Given the description of an element on the screen output the (x, y) to click on. 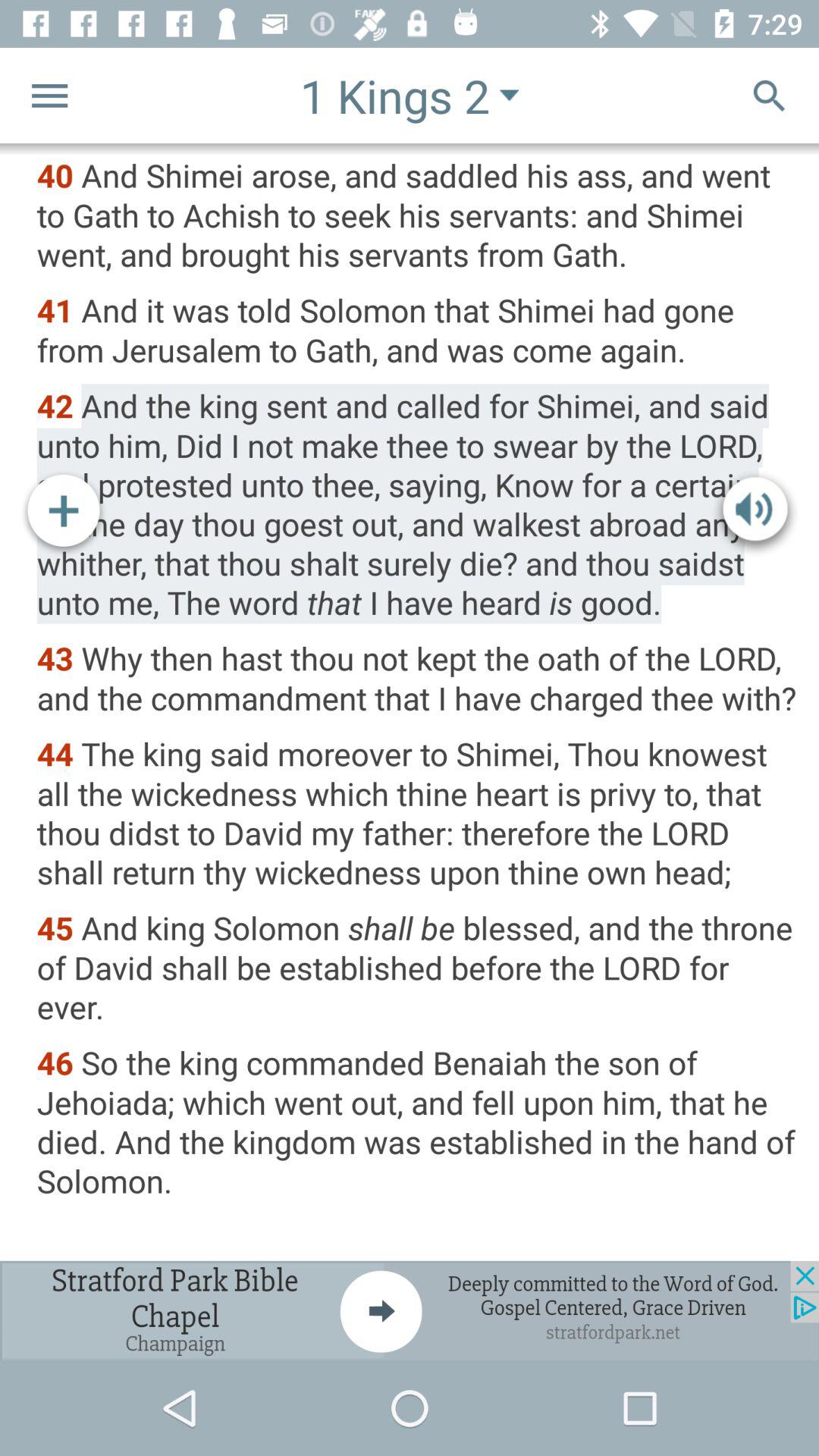
go to increash (63, 513)
